Given the description of an element on the screen output the (x, y) to click on. 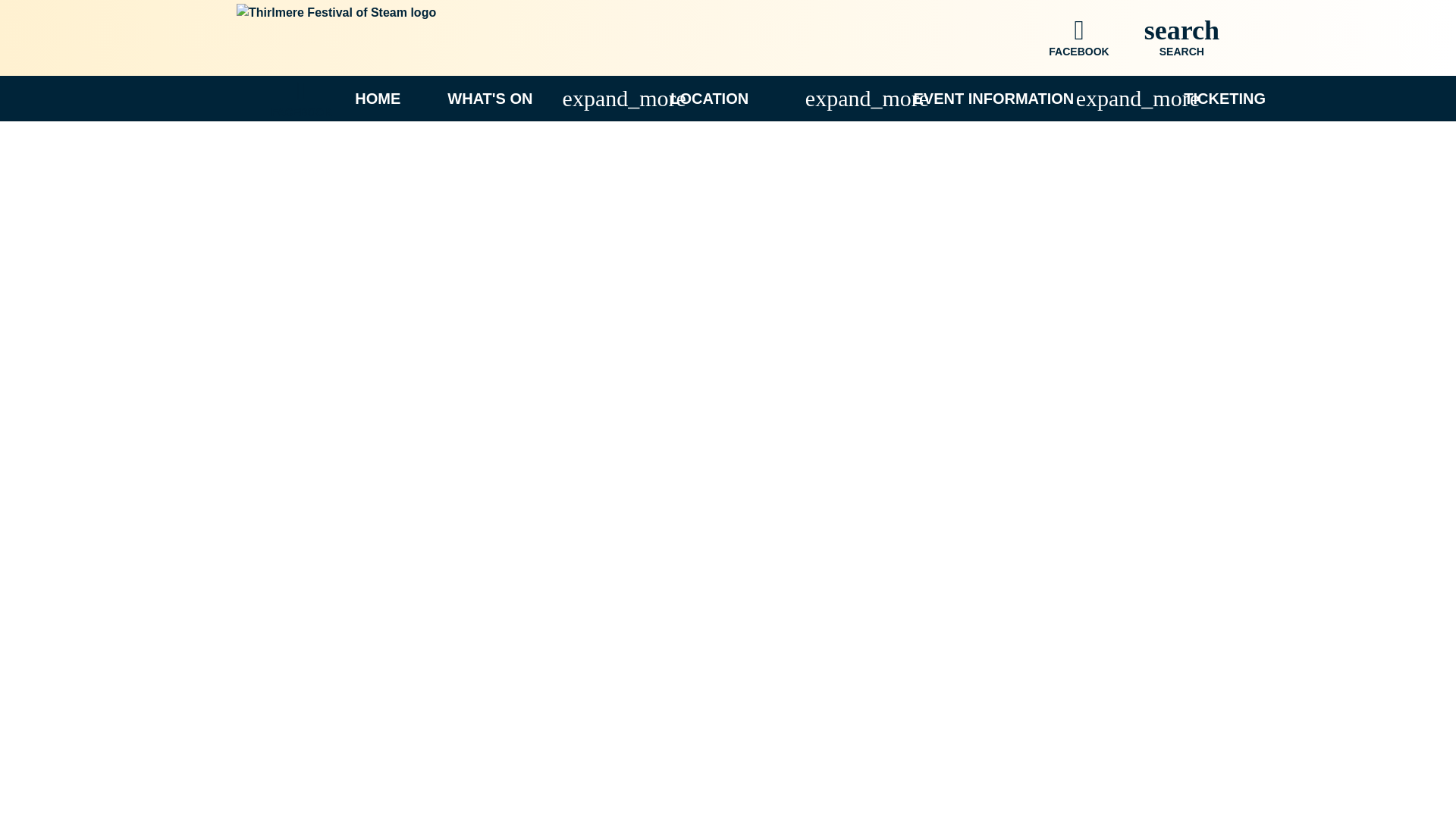
HOME (377, 97)
FACEBOOK (1074, 37)
WHAT'S ON (523, 97)
EVENT INFORMATION (1013, 97)
LOCATION (757, 97)
FACEBOOK (1178, 37)
TICKETING (297, 97)
Thirlmere Festival of Steam logo (1225, 97)
